Given the description of an element on the screen output the (x, y) to click on. 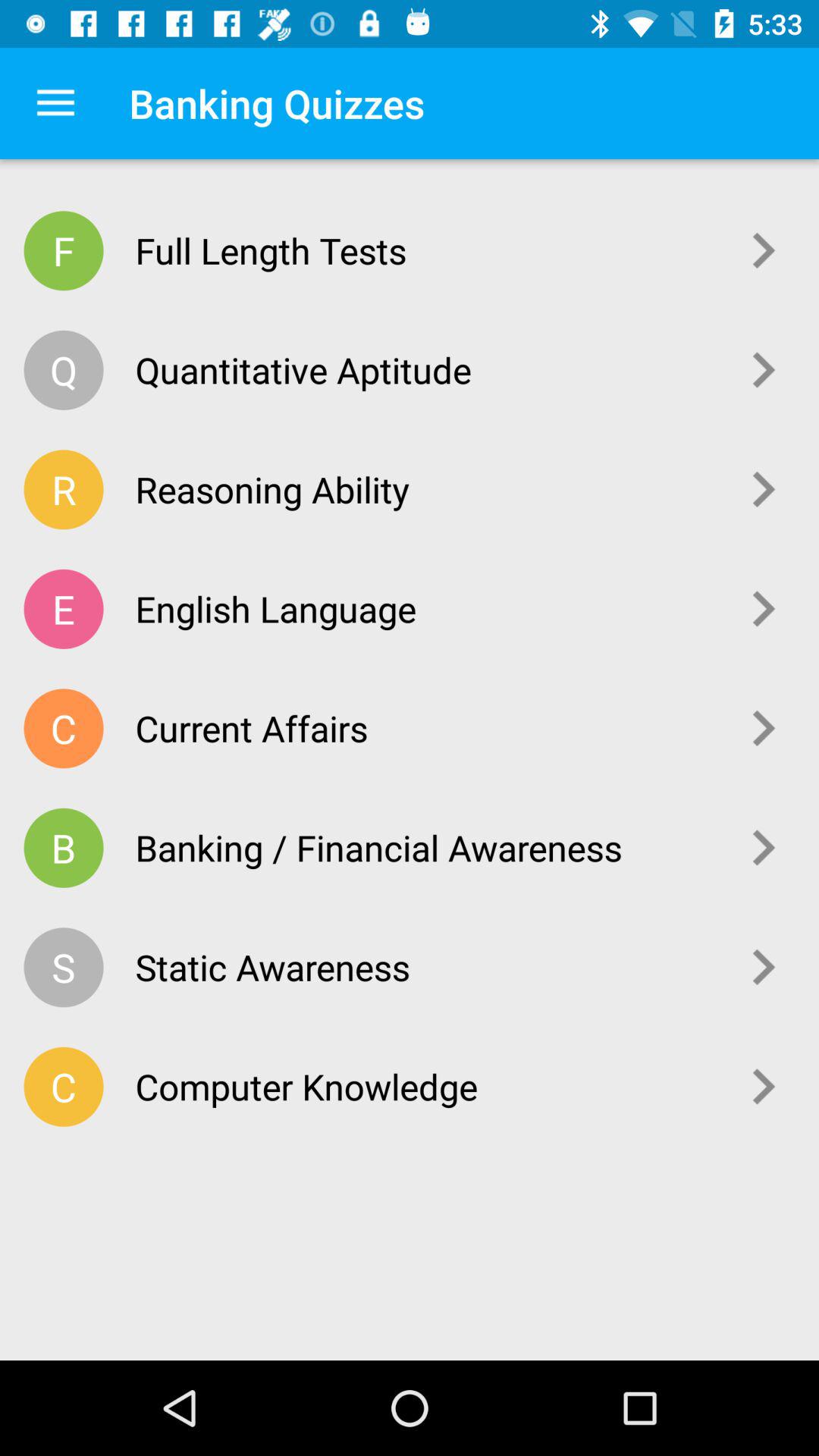
select english language item (425, 608)
